Given the description of an element on the screen output the (x, y) to click on. 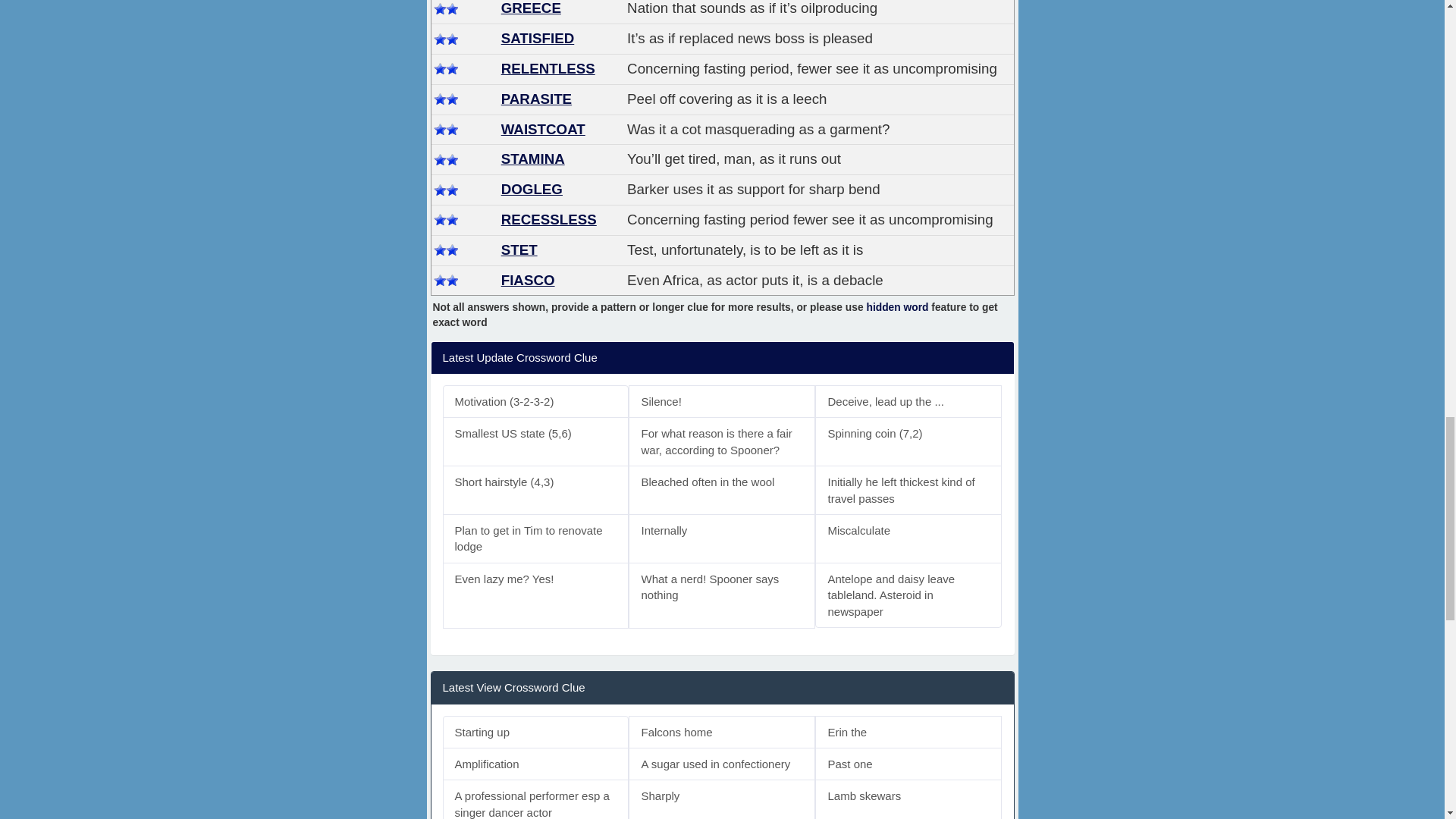
PARASITE (536, 98)
RELENTLESS (547, 68)
DOGLEG (531, 188)
FIASCO (527, 279)
RECESSLESS (548, 219)
For what reason is there a fair war, according to Spooner? (721, 441)
Bleached often in the wool (721, 490)
Deceive, lead up the ... (908, 400)
Silence! (721, 400)
WAISTCOAT (542, 129)
STET (518, 249)
hidden word (897, 307)
SATISFIED (537, 37)
GREECE (530, 7)
STAMINA (532, 158)
